Given the description of an element on the screen output the (x, y) to click on. 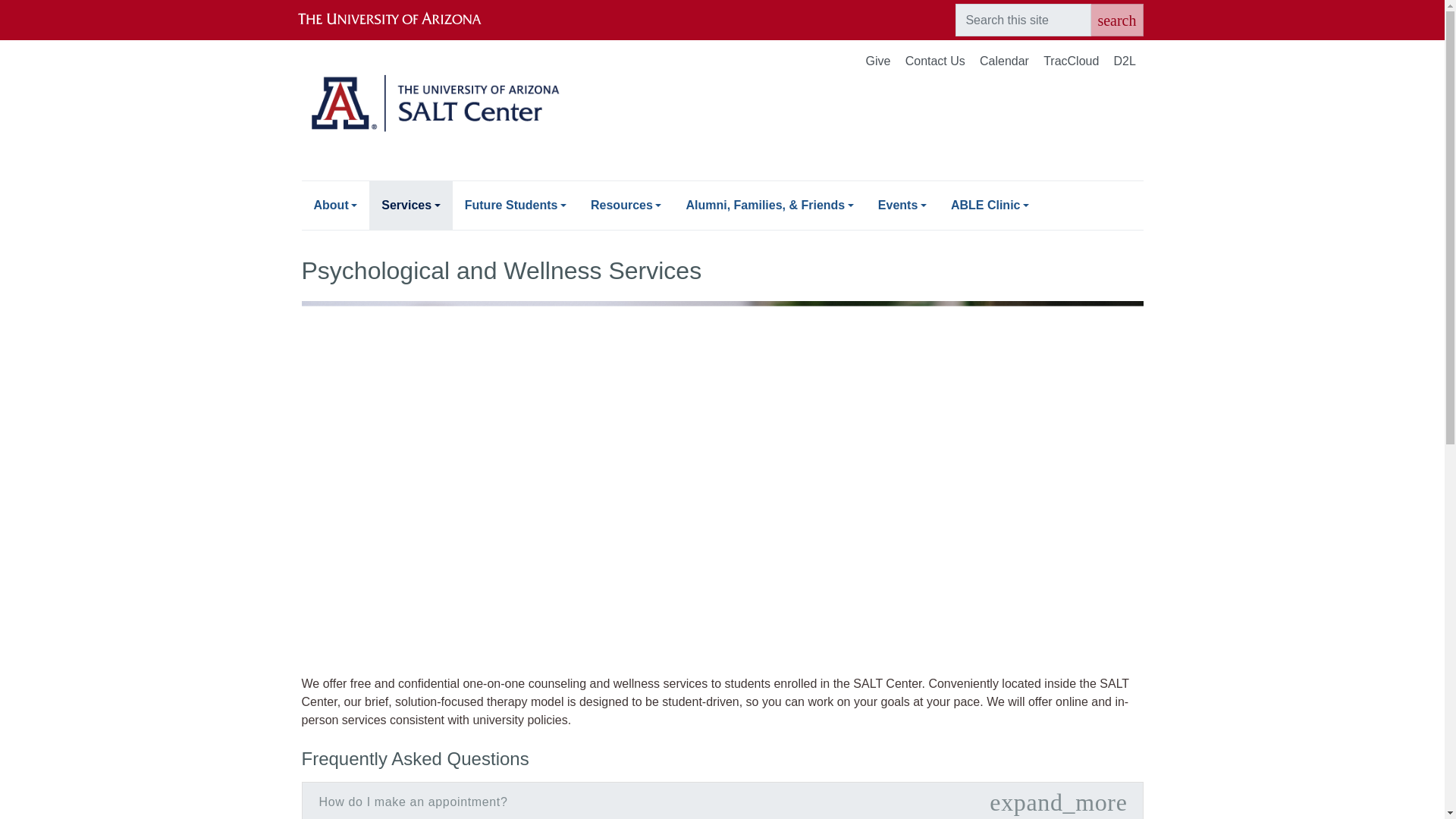
Calendar (1004, 62)
The University of Arizona homepage (401, 20)
Contact Us (935, 62)
D2L (1124, 62)
search (1116, 20)
Future Students (515, 205)
Give (878, 62)
Skip to main content (721, 1)
Enter the terms you wish to search for. (1022, 20)
Resources (625, 205)
